Given the description of an element on the screen output the (x, y) to click on. 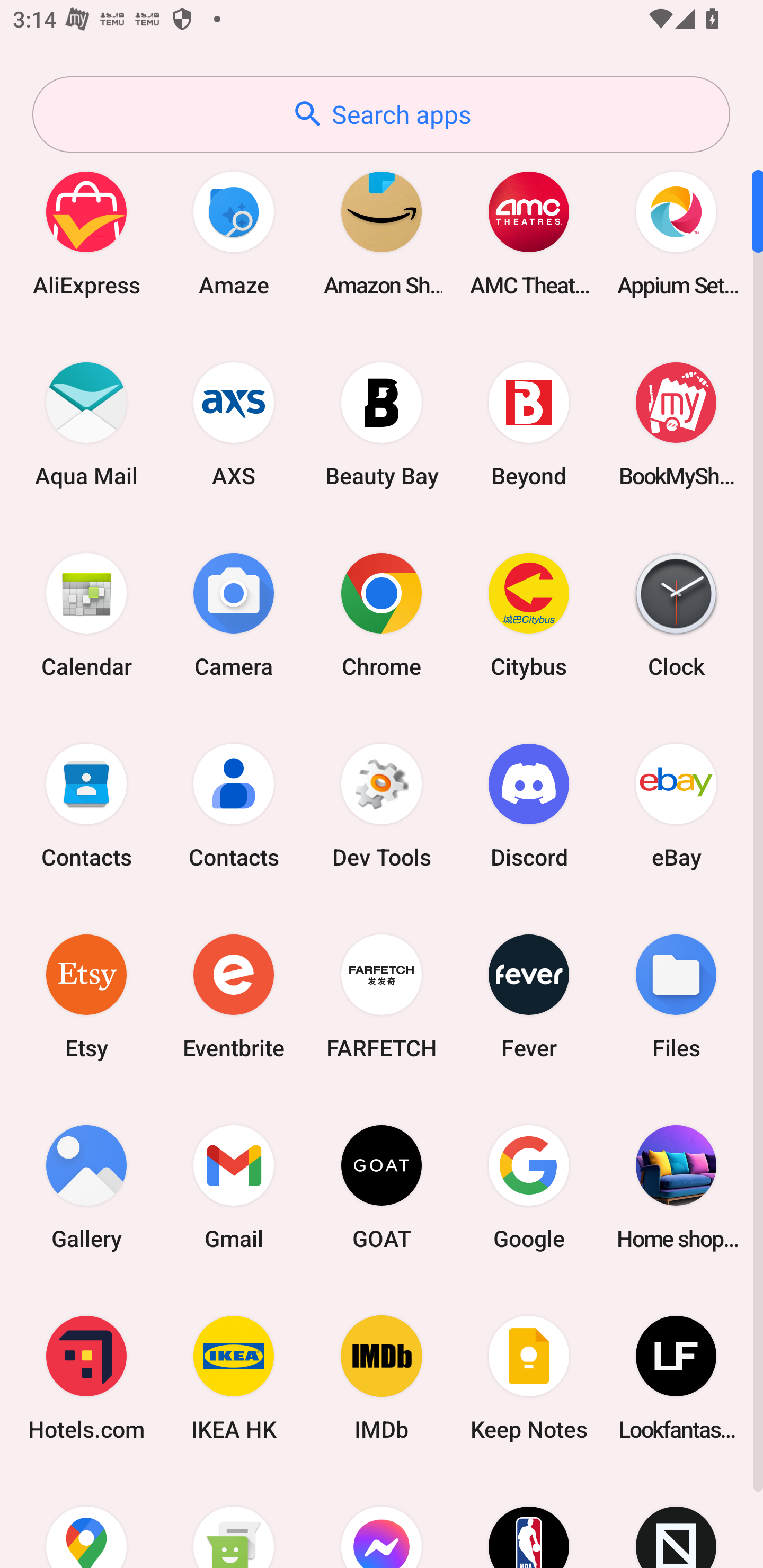
  Search apps (381, 114)
AliExpress (86, 233)
Amaze (233, 233)
Amazon Shopping (381, 233)
AMC Theatres (528, 233)
Appium Settings (676, 233)
Aqua Mail (86, 424)
AXS (233, 424)
Beauty Bay (381, 424)
Beyond (528, 424)
BookMyShow (676, 424)
Calendar (86, 614)
Camera (233, 614)
Chrome (381, 614)
Citybus (528, 614)
Clock (676, 614)
Contacts (86, 805)
Contacts (233, 805)
Dev Tools (381, 805)
Discord (528, 805)
eBay (676, 805)
Etsy (86, 996)
Eventbrite (233, 996)
FARFETCH (381, 996)
Fever (528, 996)
Files (676, 996)
Gallery (86, 1186)
Gmail (233, 1186)
GOAT (381, 1186)
Google (528, 1186)
Home shopping (676, 1186)
Hotels.com (86, 1377)
IKEA HK (233, 1377)
IMDb (381, 1377)
Keep Notes (528, 1377)
Lookfantastic (676, 1377)
